Given the description of an element on the screen output the (x, y) to click on. 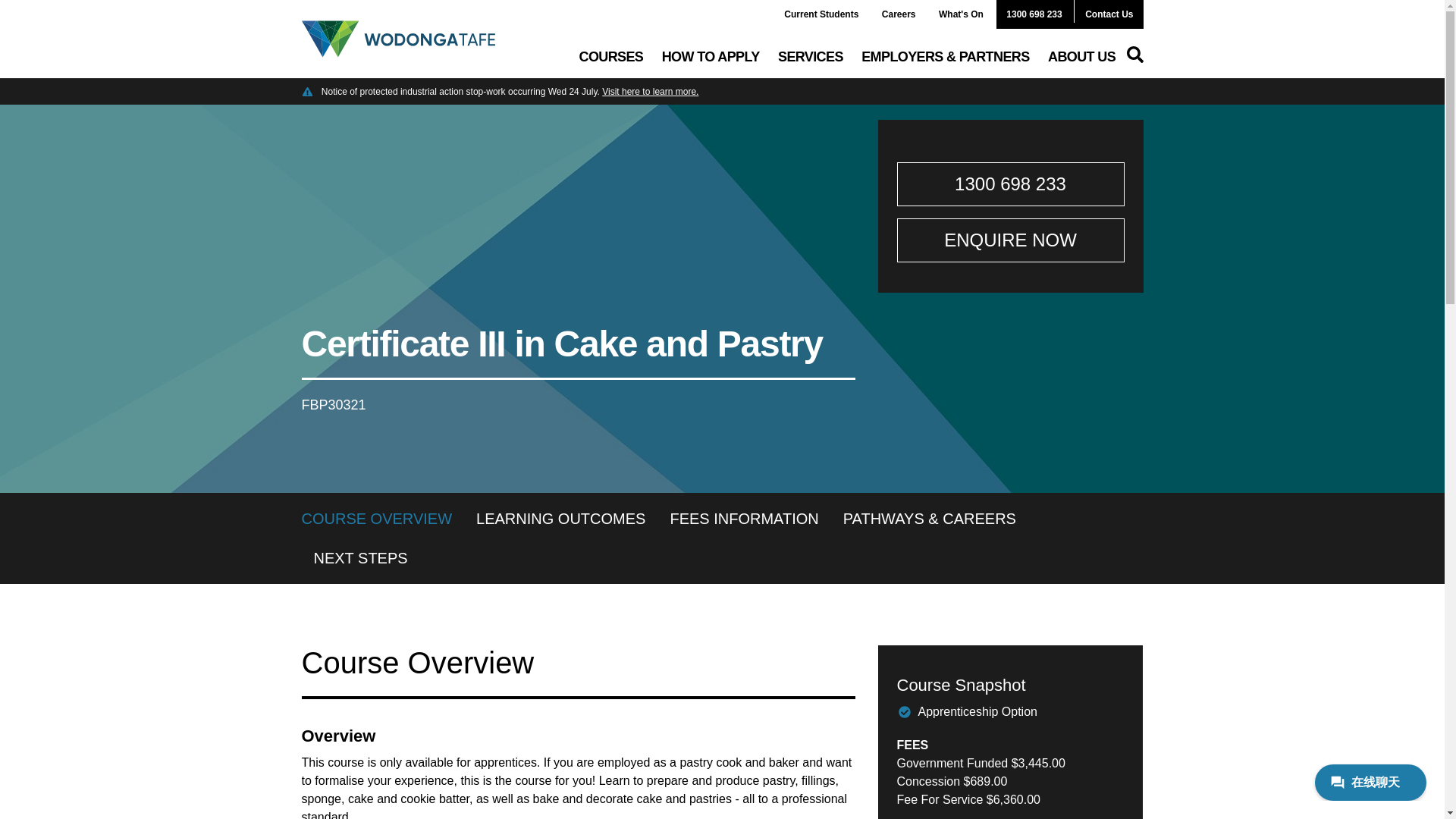
Current Students (820, 14)
COURSES (611, 56)
Contact Us (1108, 14)
What's On (960, 14)
Careers (899, 14)
